Given the description of an element on the screen output the (x, y) to click on. 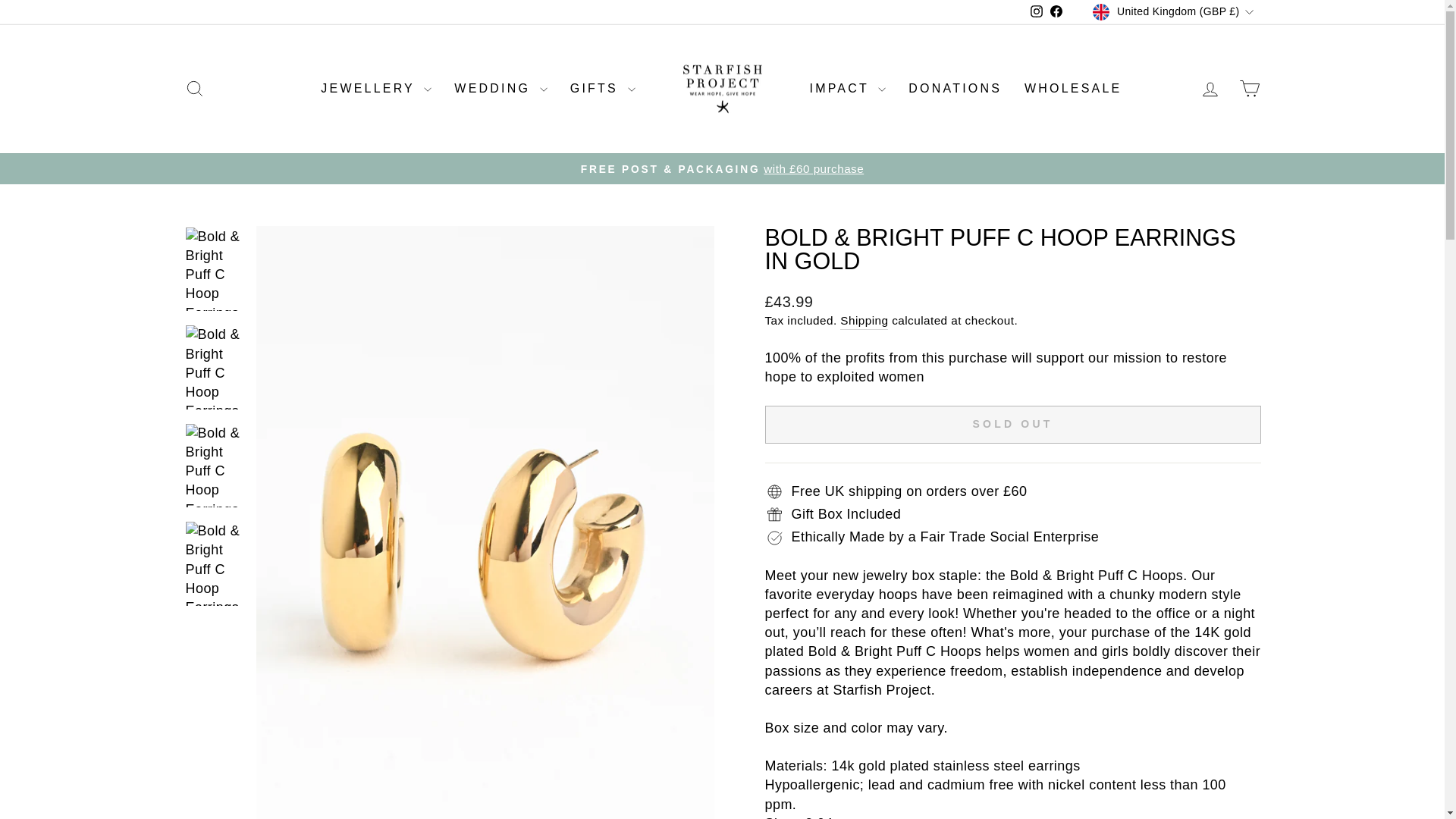
ICON-SEARCH (194, 88)
ACCOUNT (1210, 88)
instagram (1036, 10)
